Given the description of an element on the screen output the (x, y) to click on. 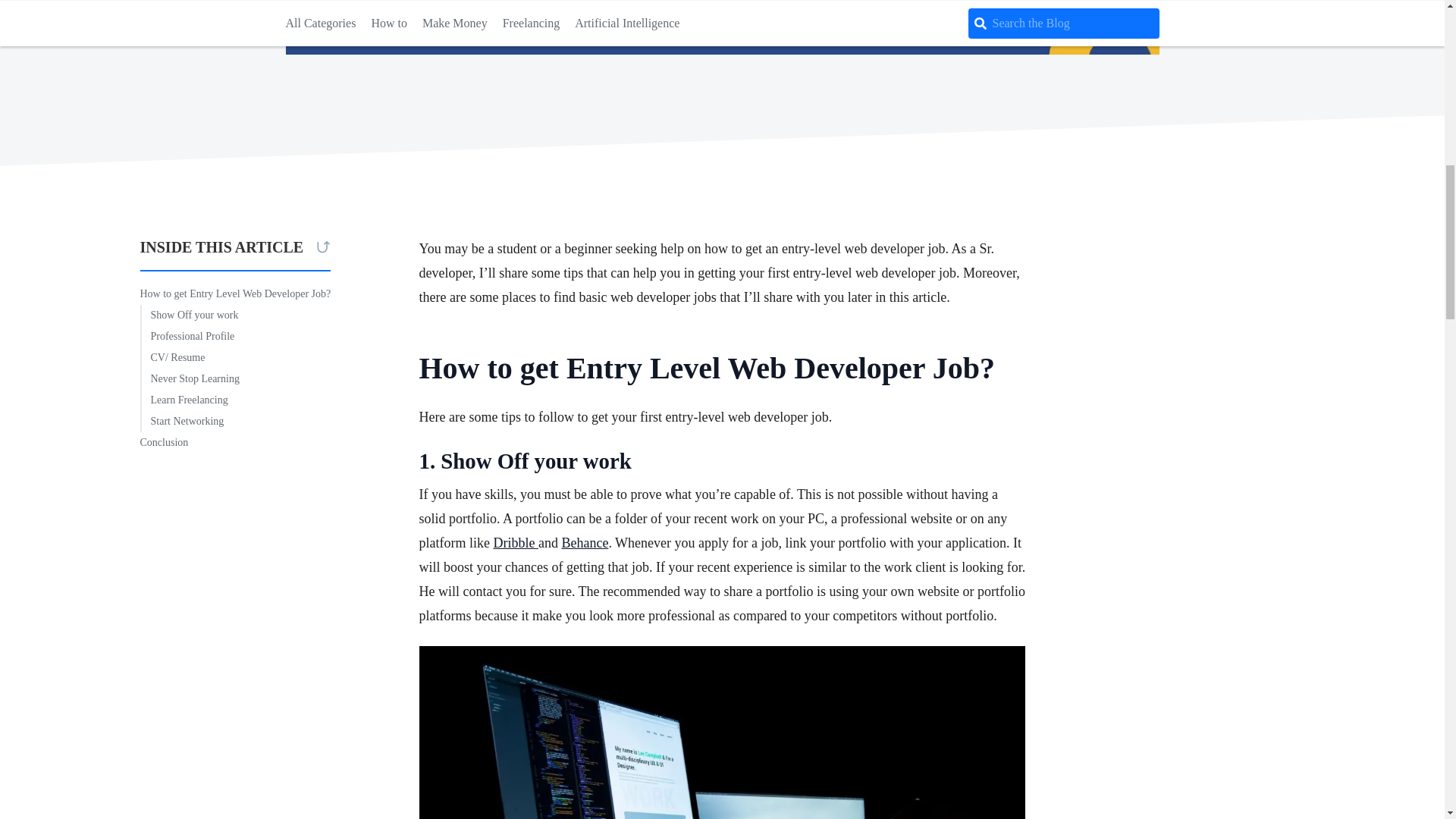
Show Off your work (188, 314)
Never Stop Learning (188, 378)
How to get Entry Level Web Developer Job? (234, 293)
Professional Profile (186, 336)
Behance (584, 542)
Dribble (515, 542)
Learn Freelancing (183, 400)
Conclusion (163, 442)
Start Networking (181, 421)
